Given the description of an element on the screen output the (x, y) to click on. 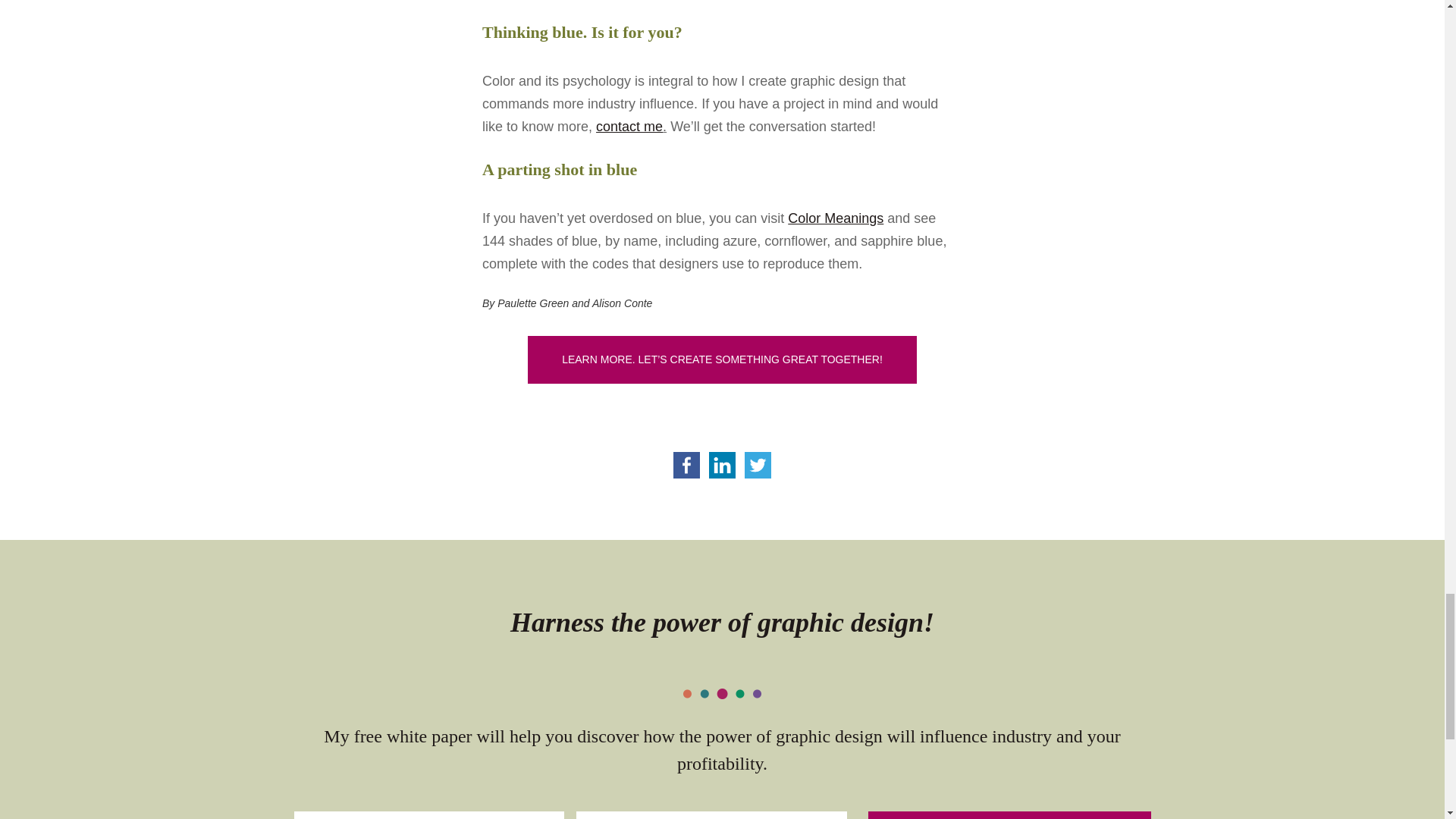
Facebook (686, 465)
LinkedIn (721, 465)
dot-border-2 (721, 693)
Get The Power (1009, 815)
Twitter (757, 465)
